Given the description of an element on the screen output the (x, y) to click on. 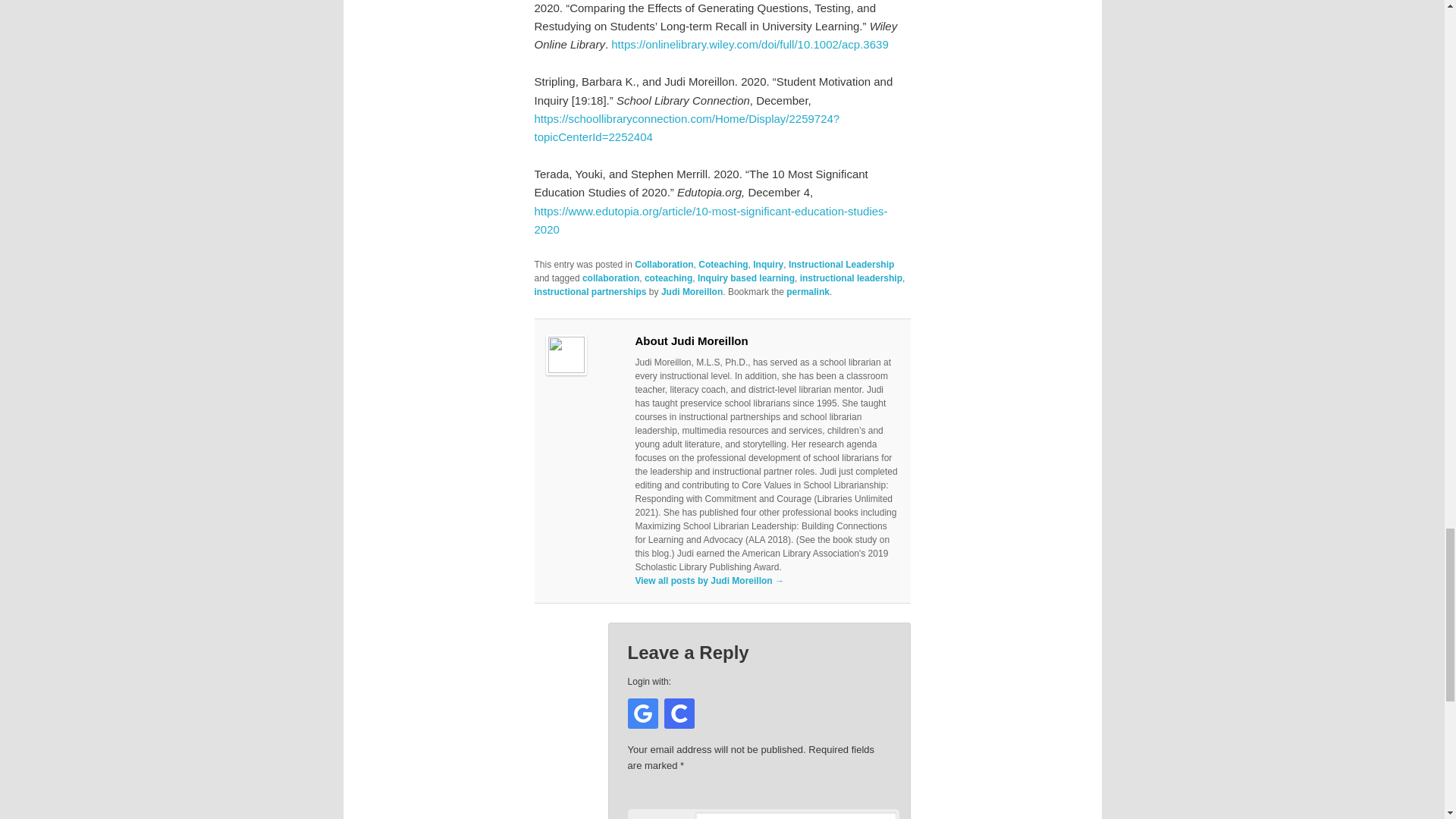
Collaboration (663, 264)
Continue with Google (642, 713)
Inquiry (767, 264)
Permalink to Launching the New Year with Inquiry Learning (807, 291)
instructional leadership (850, 277)
Coteaching (723, 264)
Instructional Leadership (841, 264)
instructional partnerships (590, 291)
coteaching (669, 277)
Judi Moreillon (691, 291)
